Given the description of an element on the screen output the (x, y) to click on. 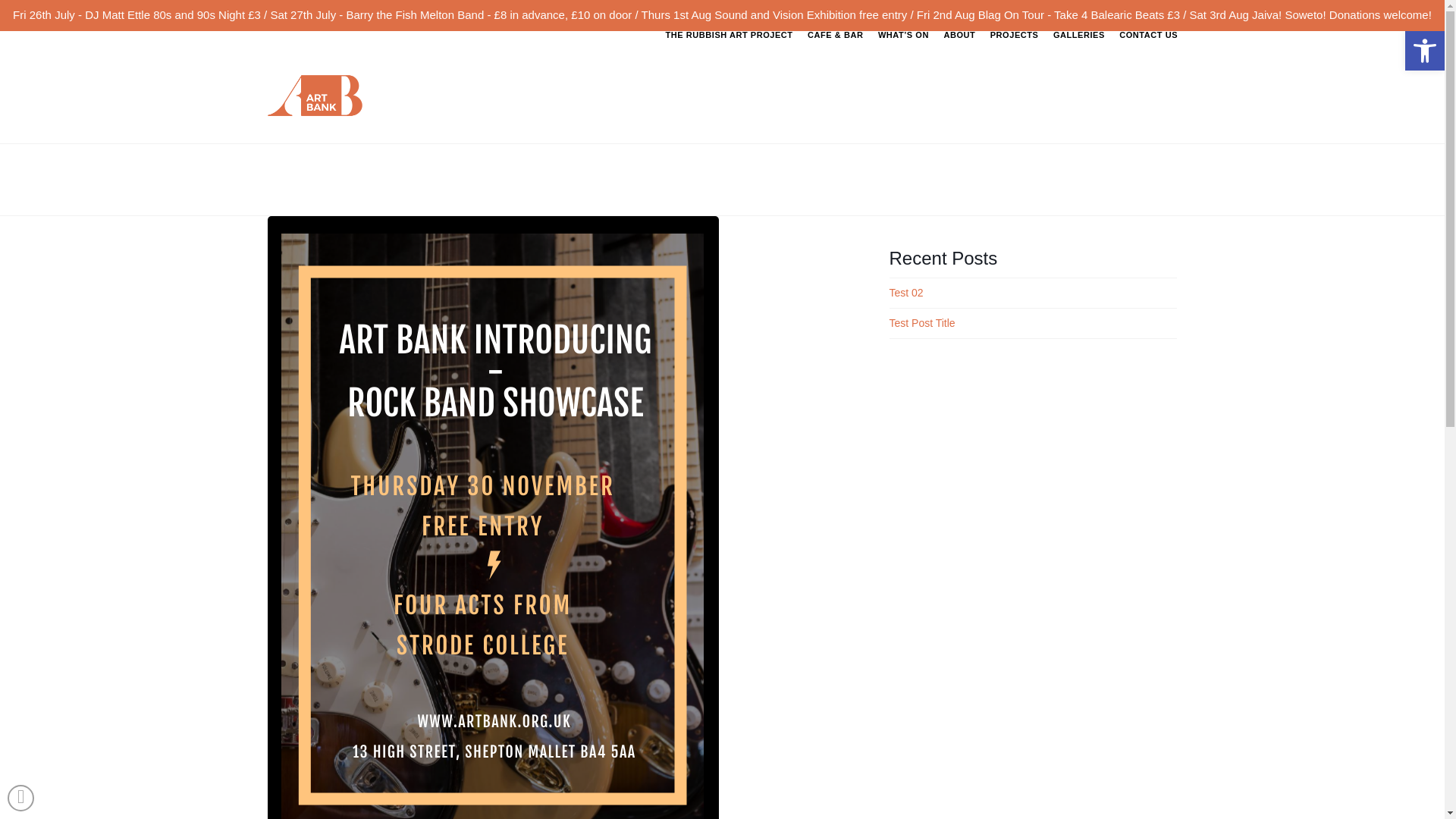
Test Post Title (921, 322)
Test 02 (905, 292)
Back to Top (20, 797)
Accessibility Tools (1424, 50)
GALLERIES (1078, 65)
PROJECTS (1013, 65)
THE RUBBISH ART PROJECT (729, 65)
CONTACT US (1144, 65)
